Given the description of an element on the screen output the (x, y) to click on. 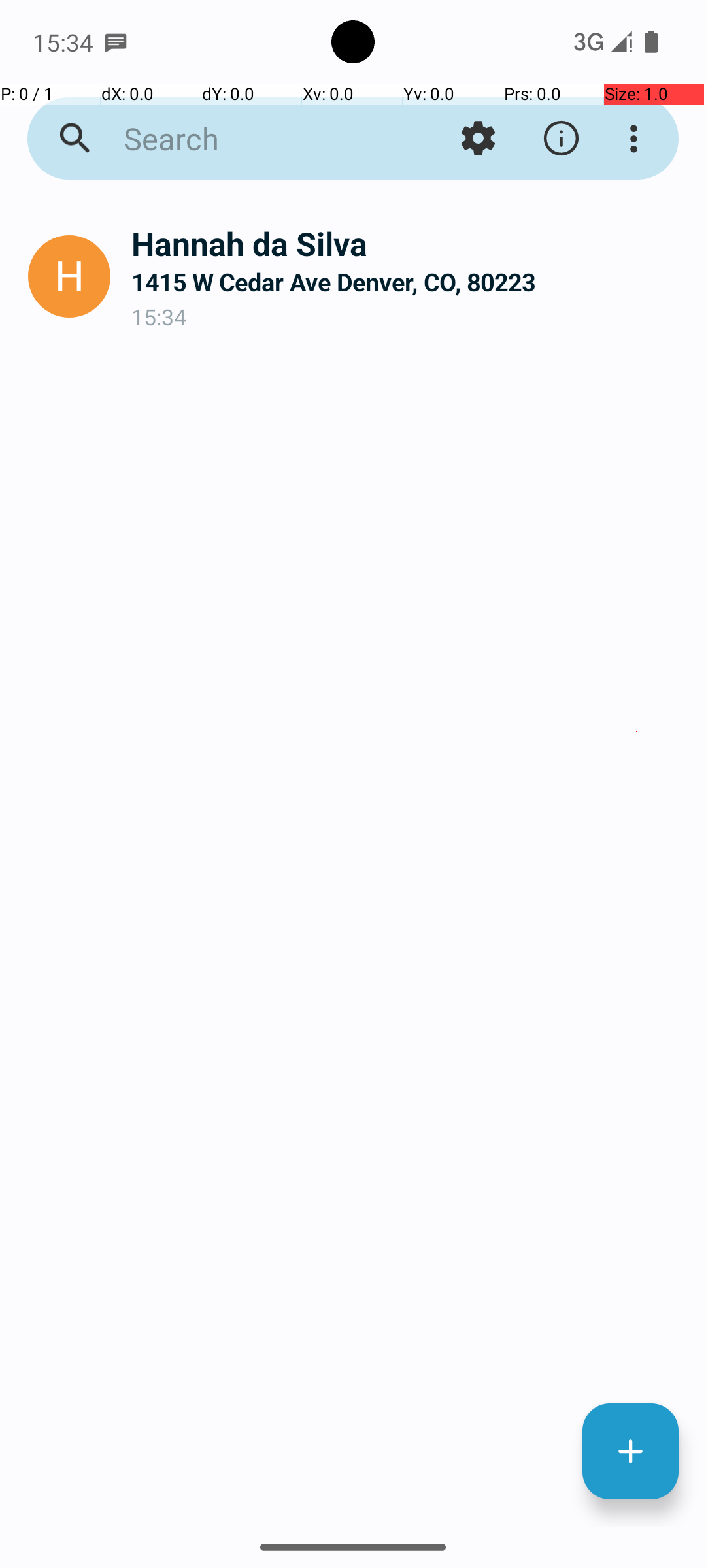
Hannah da Silva Element type: android.widget.TextView (408, 242)
1415 W Cedar Ave Denver, CO, 80223 Element type: android.widget.TextView (408, 281)
SMS Messenger notification: Hannah da Silva Element type: android.widget.ImageView (115, 41)
